Given the description of an element on the screen output the (x, y) to click on. 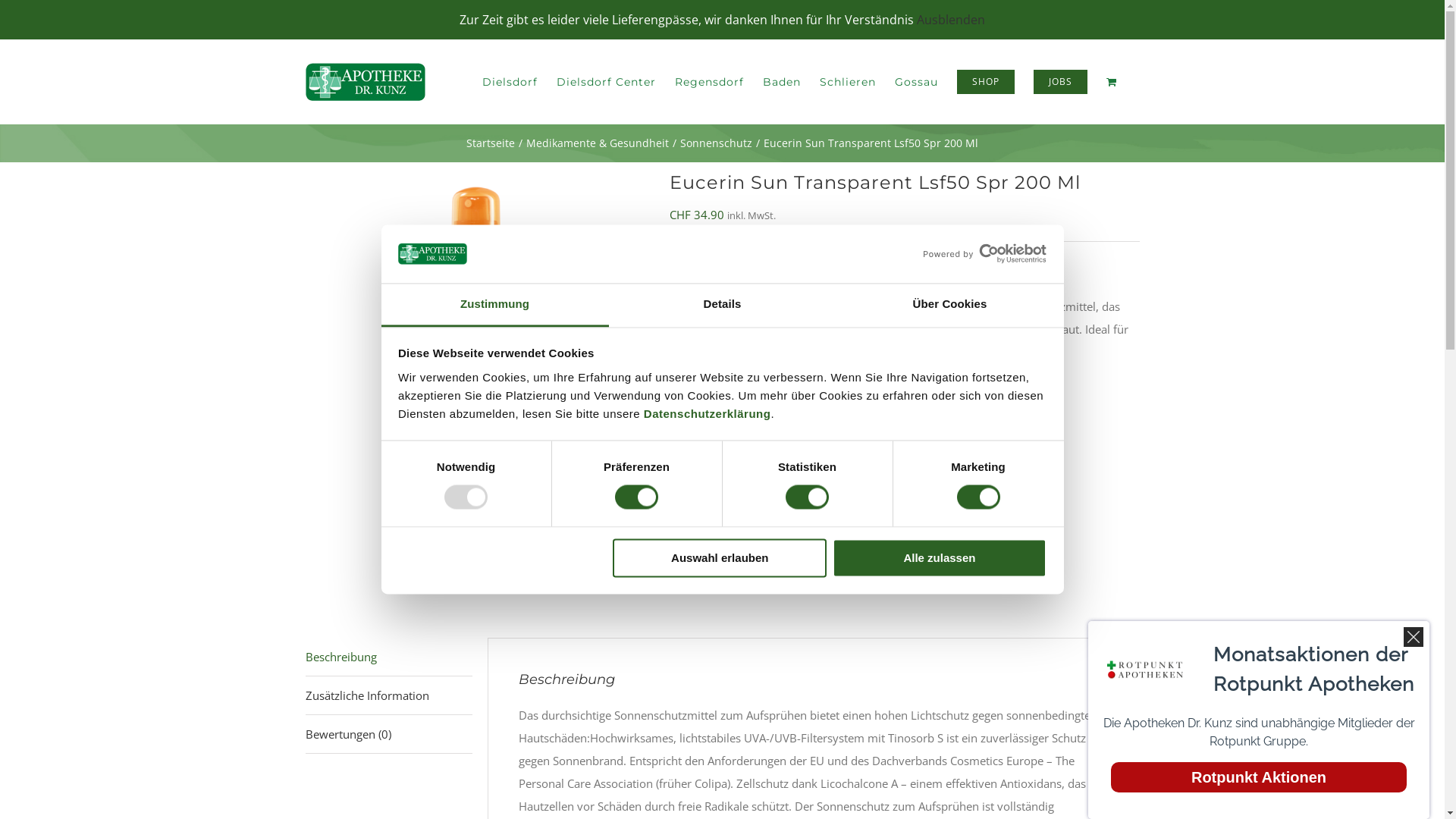
4761078 Element type: hover (475, 340)
Alle zulassen Element type: text (939, 557)
Regensdorf Element type: text (708, 81)
Bewertungen (0) Element type: text (387, 734)
Dielsdorf Element type: text (509, 81)
IN DEN WARENKORB Element type: text (971, 413)
Zustimmung Element type: text (494, 304)
Startseite Element type: text (490, 142)
Baden Element type: text (781, 81)
Sonnenschutz Element type: text (768, 580)
Schlieren Element type: text (847, 81)
Medikamente & Gesundheit Element type: text (597, 142)
Sonnenschutz Element type: text (760, 557)
Gossau Element type: text (916, 81)
Ausblenden Element type: text (950, 19)
JOBS Element type: text (1059, 81)
Beschreibung Element type: text (387, 656)
Dielsdorf Center Element type: text (605, 81)
SHOP Element type: text (985, 81)
Sonnenschutz Element type: text (716, 142)
Details Element type: text (721, 304)
Auswahl erlauben Element type: text (719, 557)
